Given the description of an element on the screen output the (x, y) to click on. 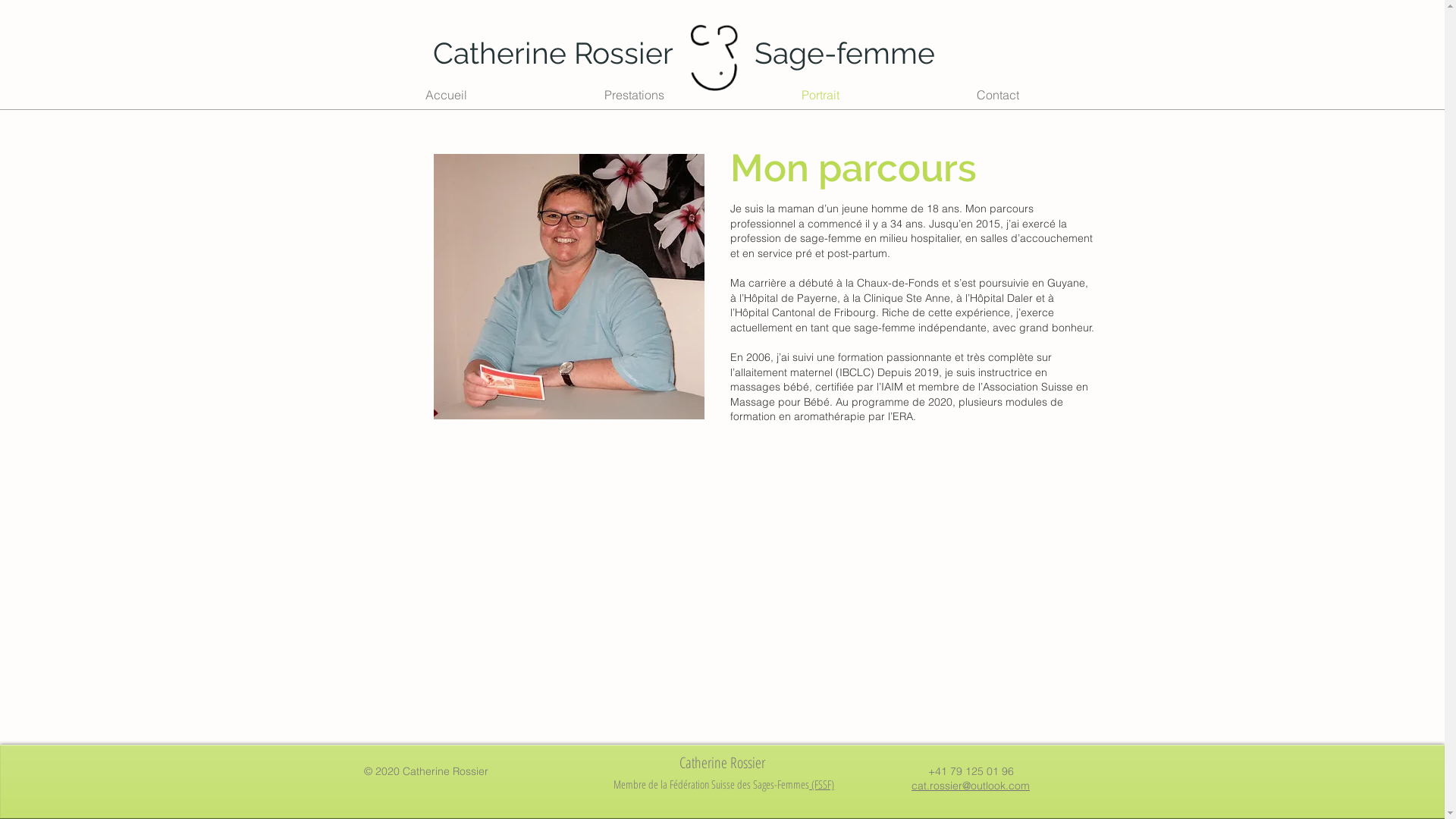
Catherine Rossier Element type: text (552, 52)
Accueil Element type: text (446, 94)
Portrait Element type: text (819, 94)
(FSSF) Element type: text (821, 783)
Sage-femme Element type: text (843, 52)
IBCLC) Element type: text (855, 372)
Prestations Element type: text (633, 94)
cat.rossier@outlook.com Element type: text (970, 785)
Contact Element type: text (998, 94)
